Given the description of an element on the screen output the (x, y) to click on. 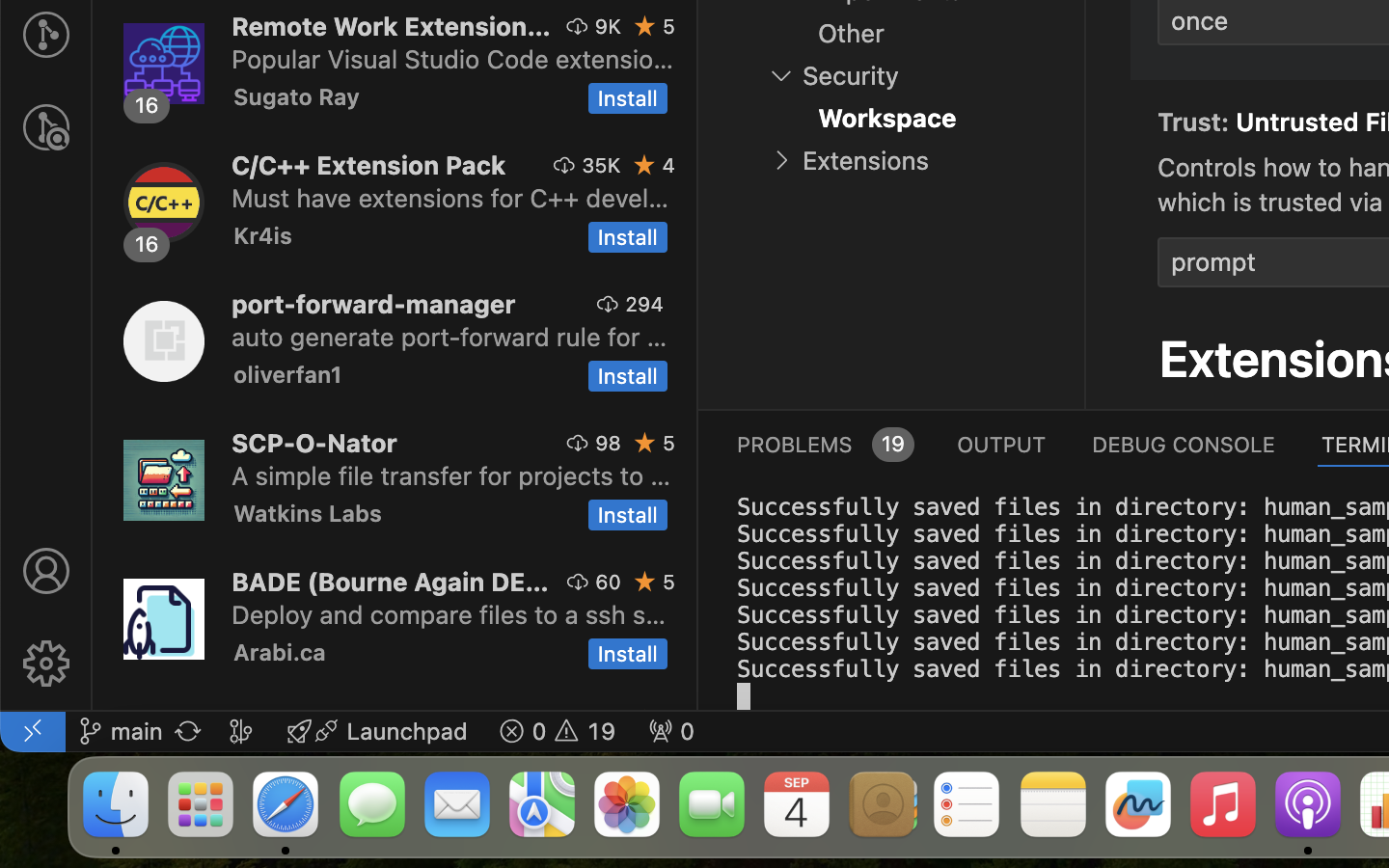
19 0   Element type: AXButton (557, 730)
 Element type: AXGroup (46, 127)
Workspace Element type: AXStaticText (886, 118)
 Element type: AXStaticText (780, 74)
60 Element type: AXStaticText (608, 581)
